Given the description of an element on the screen output the (x, y) to click on. 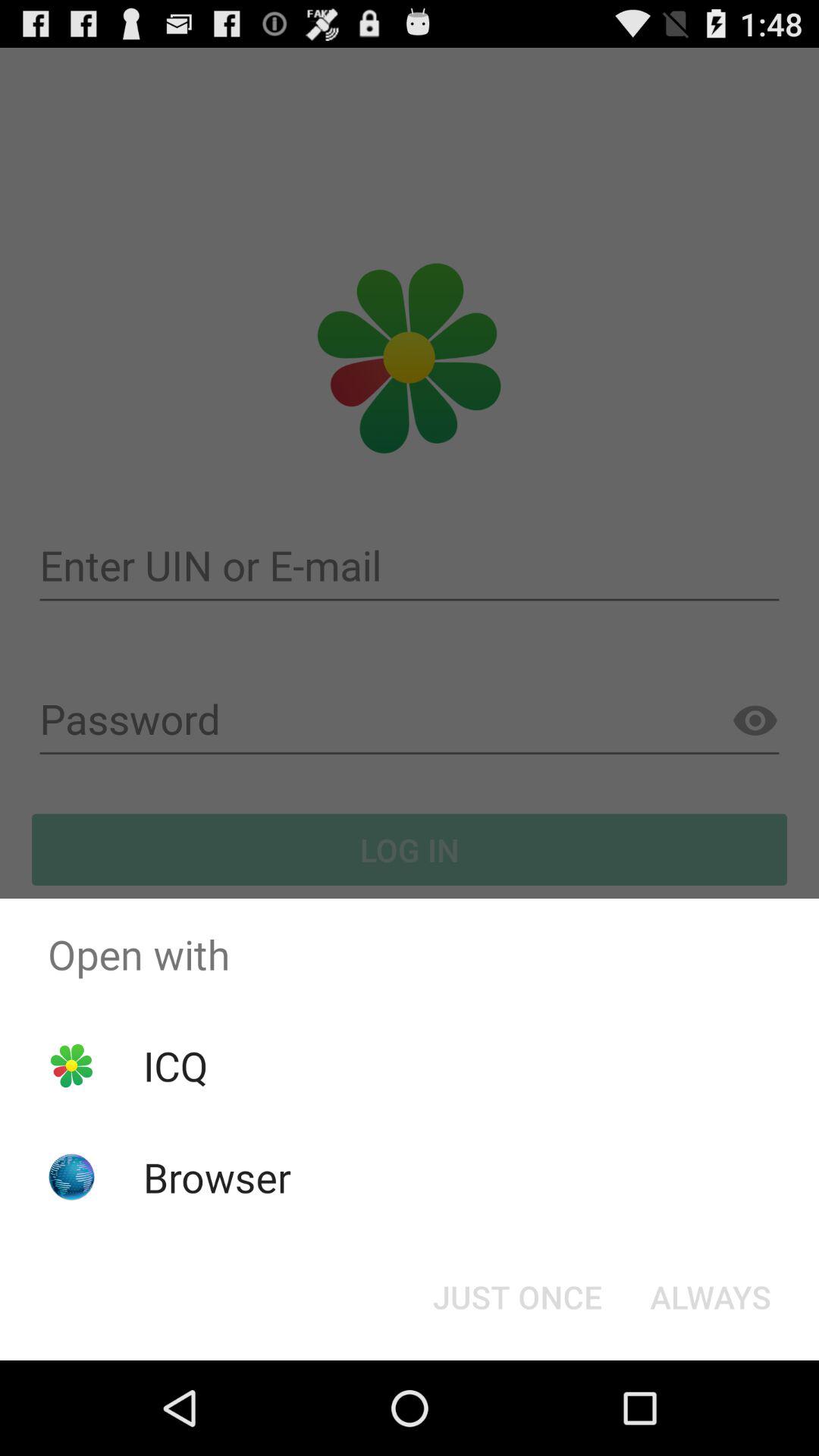
choose button at the bottom (517, 1296)
